Given the description of an element on the screen output the (x, y) to click on. 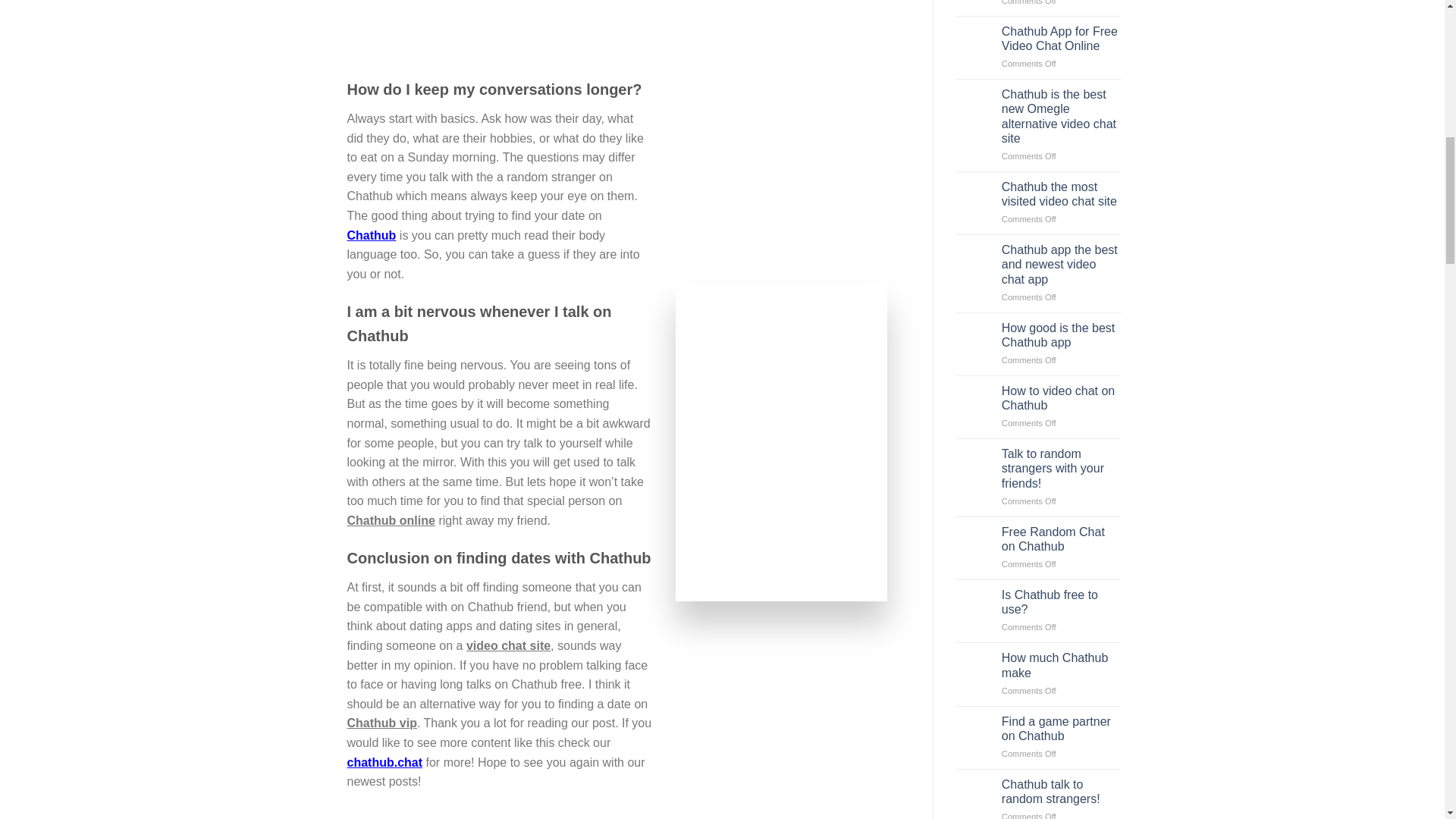
chathub.chat (385, 762)
Chathub (371, 235)
Chathub App for Free Video Chat Online (1061, 38)
